Given the description of an element on the screen output the (x, y) to click on. 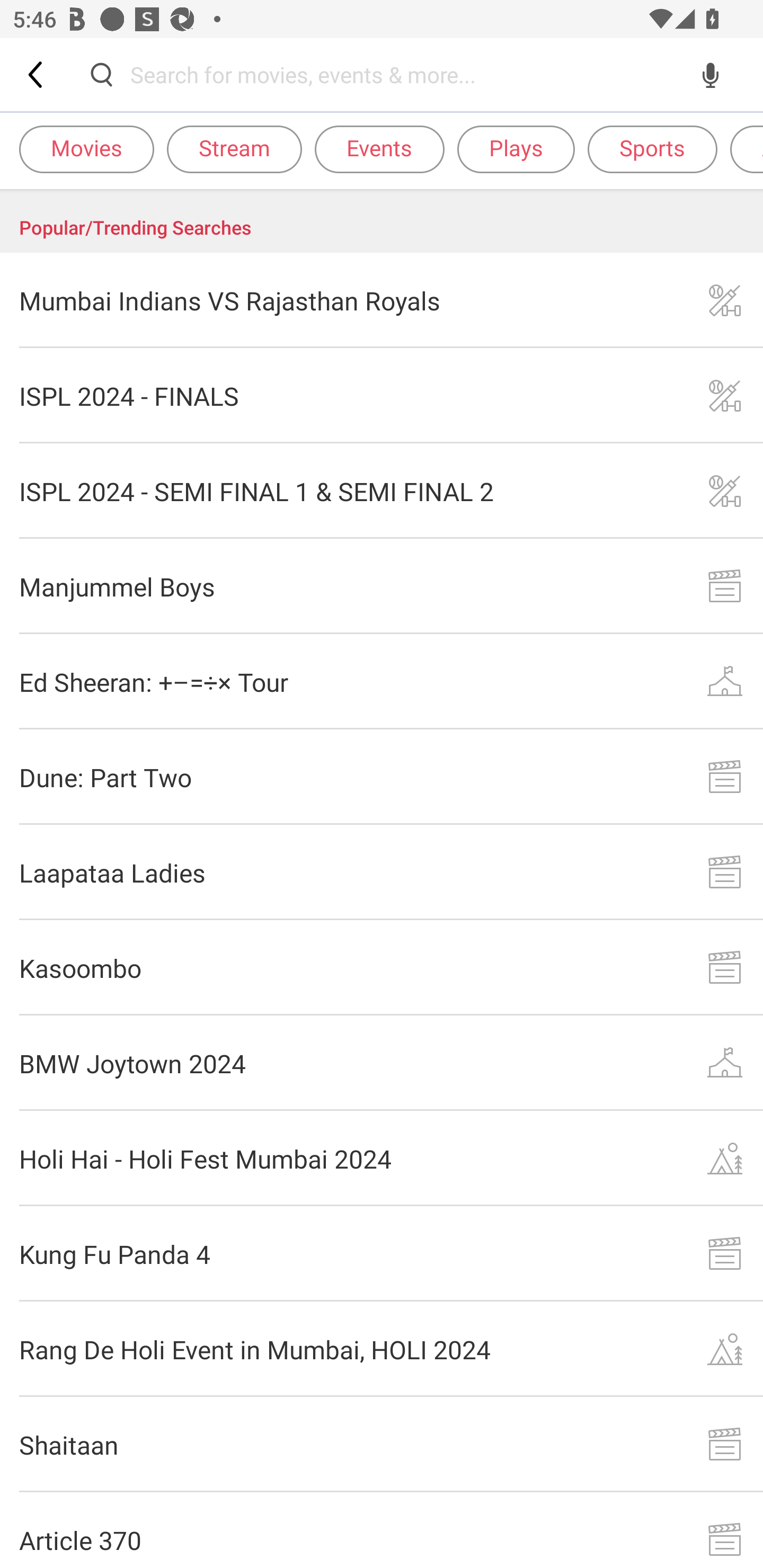
Back (36, 74)
Search for movies, events & more... (406, 74)
Movies (86, 148)
Stream (234, 148)
Events (379, 148)
Plays (515, 148)
Sports (652, 148)
Popular/Trending Searches (381, 220)
Mumbai Indians VS Rajasthan Royals (381, 300)
ISPL 2024 - FINALS (381, 395)
ISPL 2024 - SEMI FINAL 1 & SEMI FINAL 2 (381, 491)
Manjummel Boys (381, 586)
Ed Sheeran: +–=÷× Tour (381, 681)
Dune: Part Two (381, 776)
Laapataa Ladies (381, 872)
Kasoombo (381, 968)
BMW Joytown 2024 (381, 1063)
Holi Hai - Holi Fest Mumbai 2024 (381, 1157)
Kung Fu Panda 4 (381, 1253)
Rang De Holi Event in Mumbai, HOLI 2024 (381, 1349)
Shaitaan (381, 1444)
Article 370 (381, 1530)
